Given the description of an element on the screen output the (x, y) to click on. 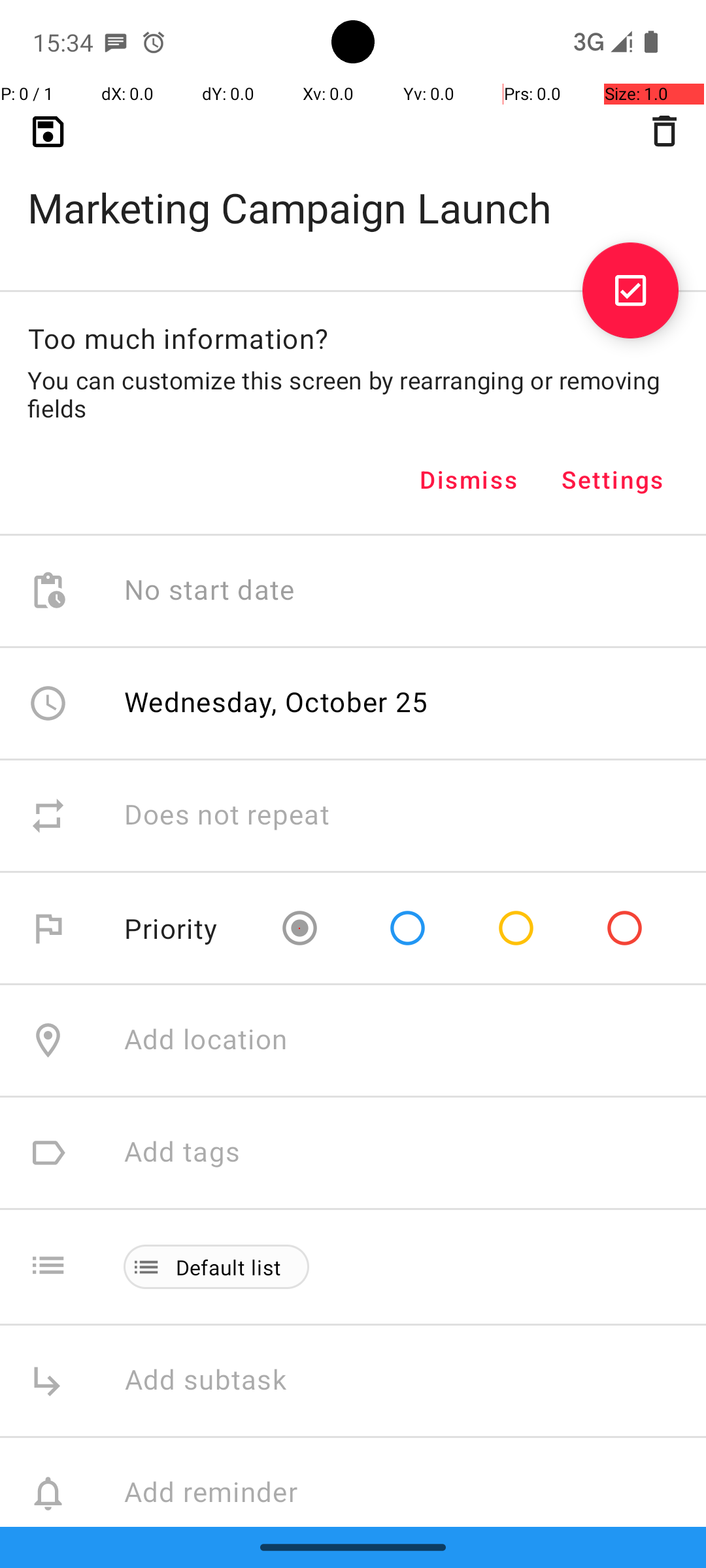
Marketing Campaign Launch Element type: android.widget.EditText (353, 186)
Wednesday, October 25 Element type: android.widget.TextView (276, 700)
